Given the description of an element on the screen output the (x, y) to click on. 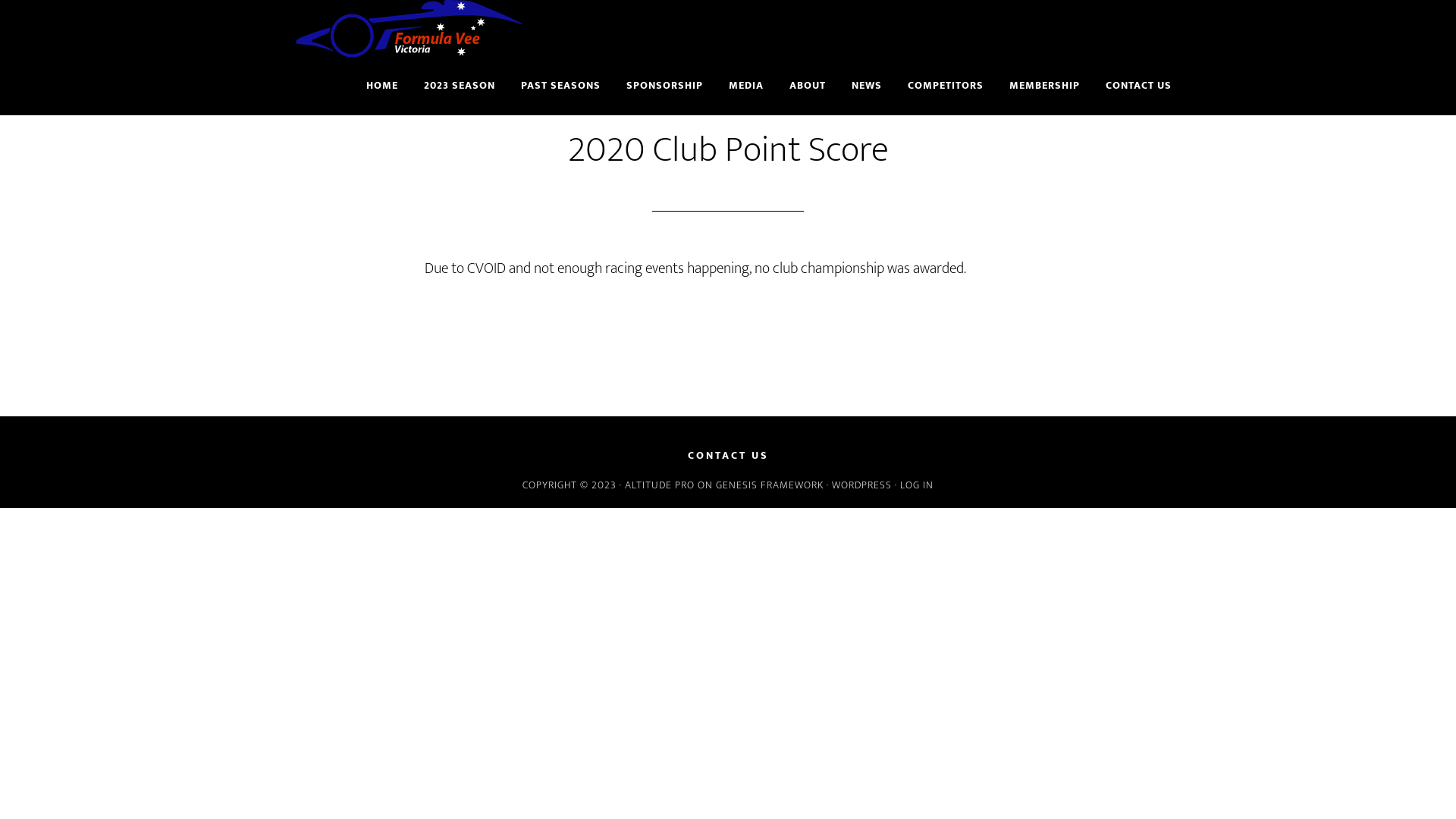
ALTITUDE PRO Element type: text (659, 484)
MEMBERSHIP Element type: text (1044, 86)
COMPETITORS Element type: text (945, 86)
FORMULA VEE VICTORIA Element type: text (409, 28)
GENESIS FRAMEWORK Element type: text (769, 484)
PAST SEASONS Element type: text (560, 86)
WORDPRESS Element type: text (861, 484)
NEWS Element type: text (866, 86)
SPONSORSHIP Element type: text (664, 86)
HOME Element type: text (381, 86)
CONTACT US Element type: text (1138, 86)
ABOUT Element type: text (807, 86)
LOG IN Element type: text (916, 484)
Skip to main content Element type: text (0, 0)
CONTACT US Element type: text (727, 455)
MEDIA Element type: text (746, 86)
2023 SEASON Element type: text (459, 86)
